Given the description of an element on the screen output the (x, y) to click on. 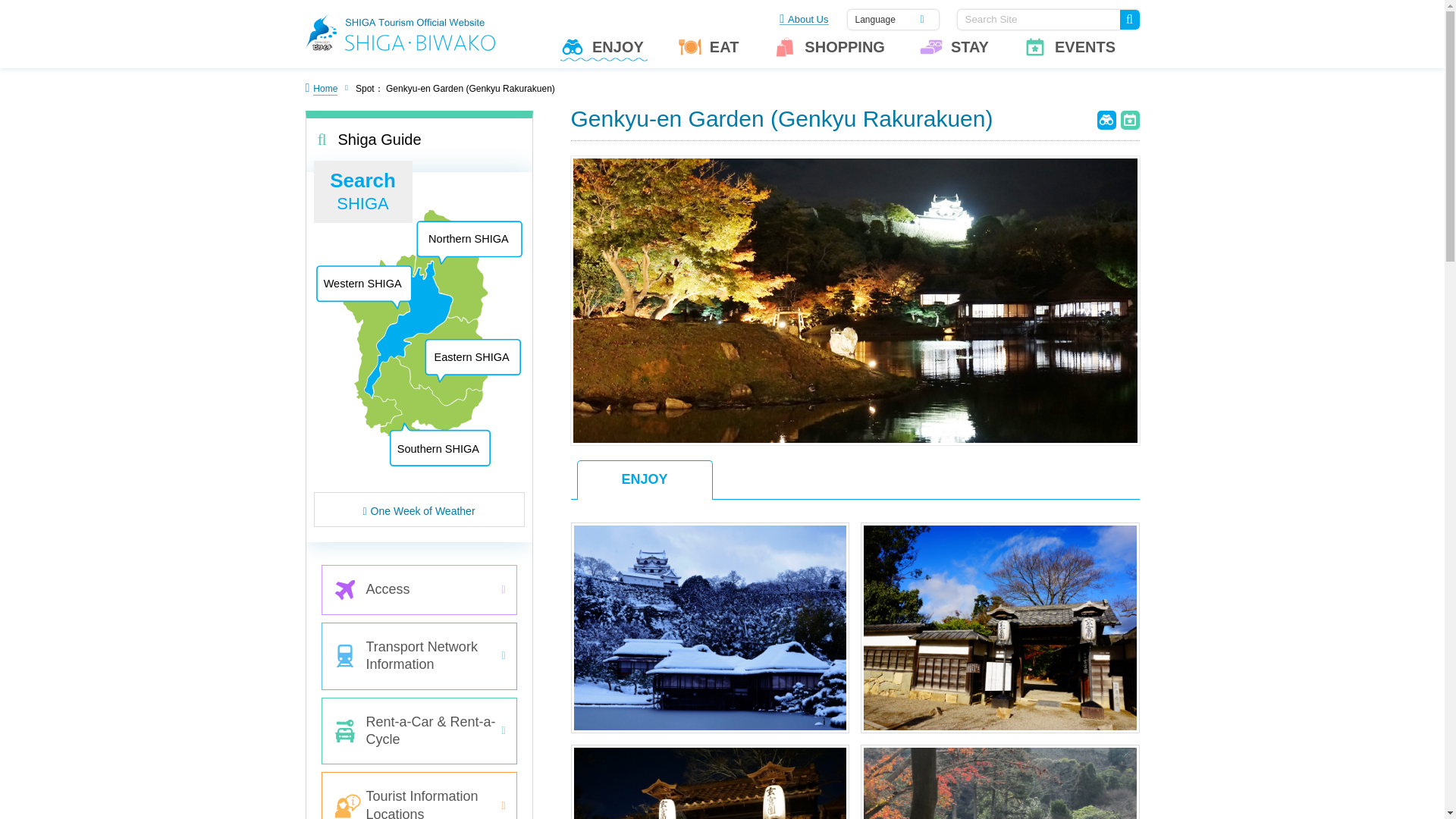
SHOPPING (830, 51)
EAT (710, 51)
Language (893, 19)
About Us (803, 17)
ENJOY (603, 51)
